Given the description of an element on the screen output the (x, y) to click on. 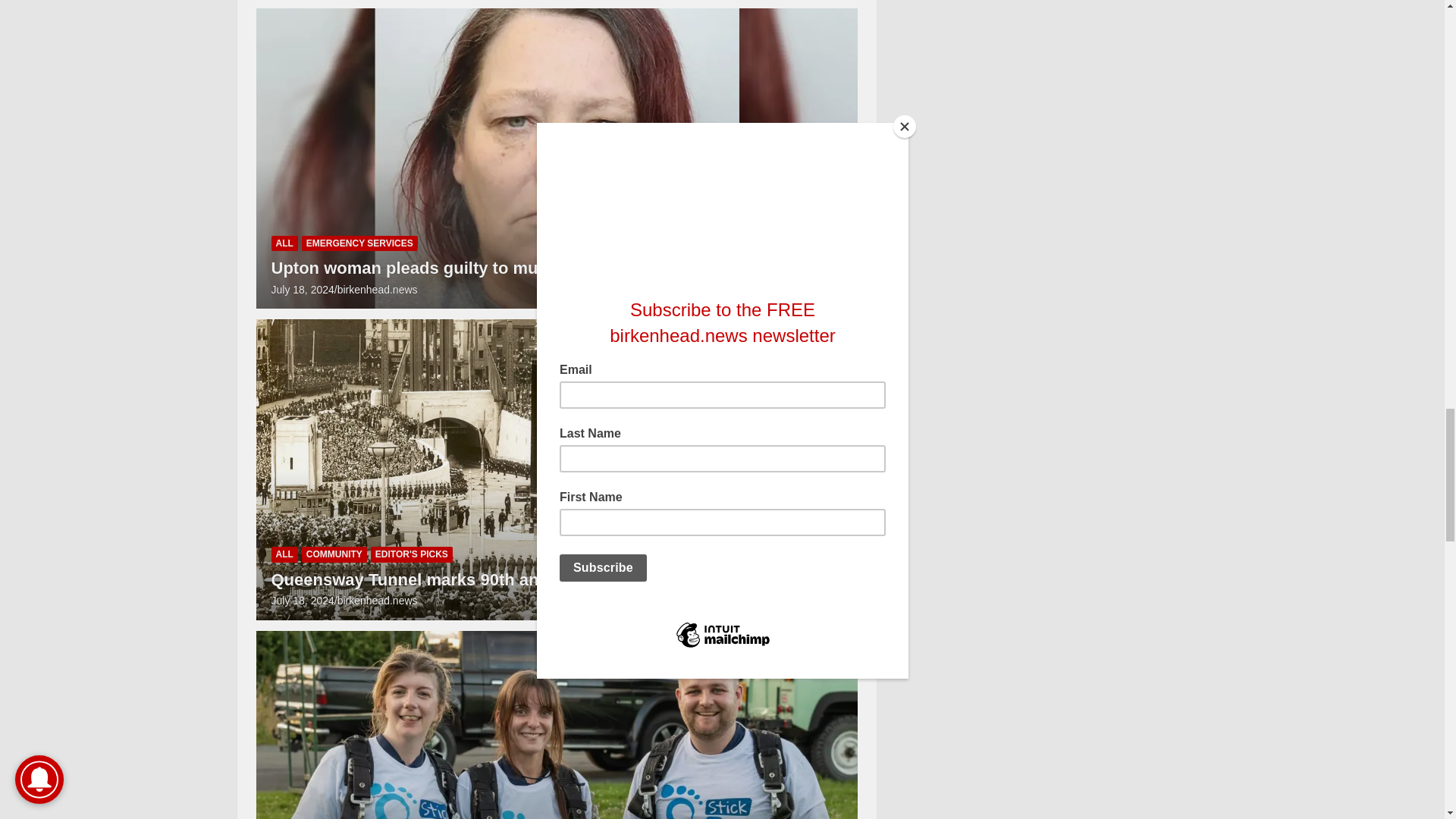
Upton woman pleads guilty to murder (302, 289)
Queensway Tunnel marks 90th anniversary (302, 600)
